Given the description of an element on the screen output the (x, y) to click on. 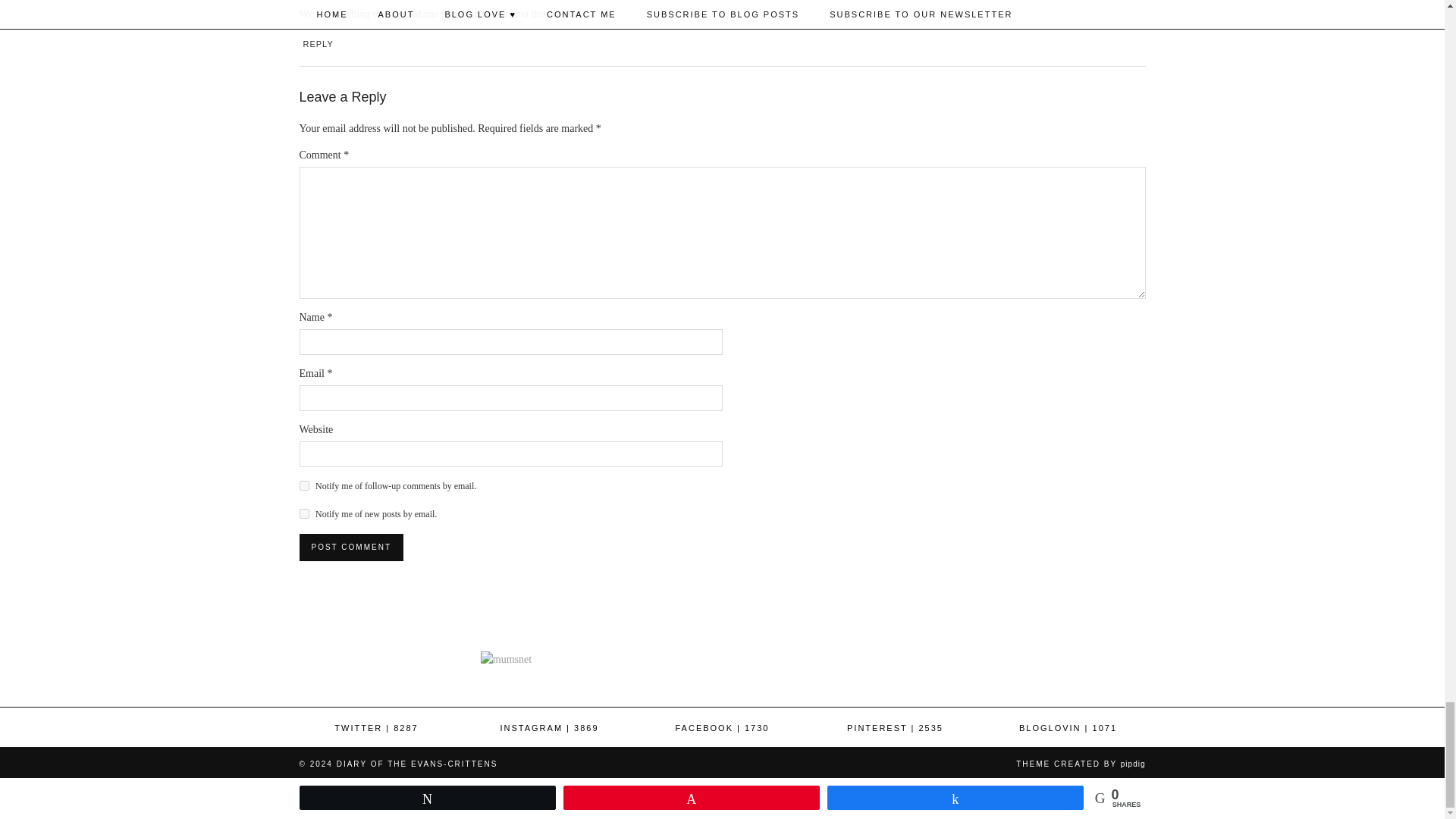
subscribe (303, 513)
Post Comment (350, 547)
subscribe (303, 485)
